Given the description of an element on the screen output the (x, y) to click on. 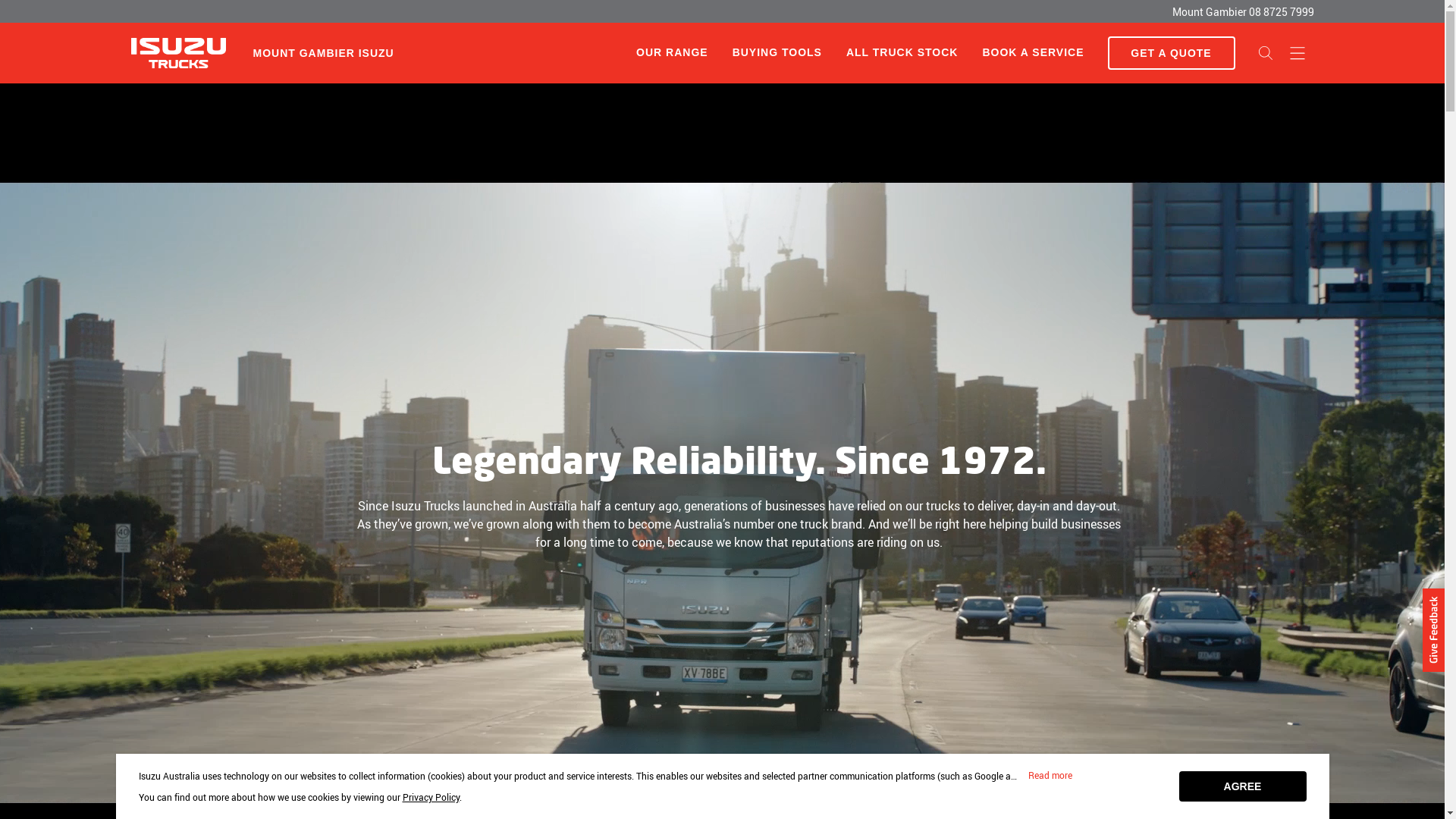
Privacy Policy Element type: text (429, 796)
BOOK A SERVICE Element type: text (1032, 52)
AGREE Element type: text (1241, 786)
GET A QUOTE Element type: text (1170, 52)
Read more Element type: text (1049, 775)
OUR RANGE Element type: text (672, 52)
BUYING TOOLS Element type: text (777, 52)
ALL TRUCK STOCK Element type: text (901, 52)
08 8725 7999 Element type: text (1280, 11)
